Given the description of an element on the screen output the (x, y) to click on. 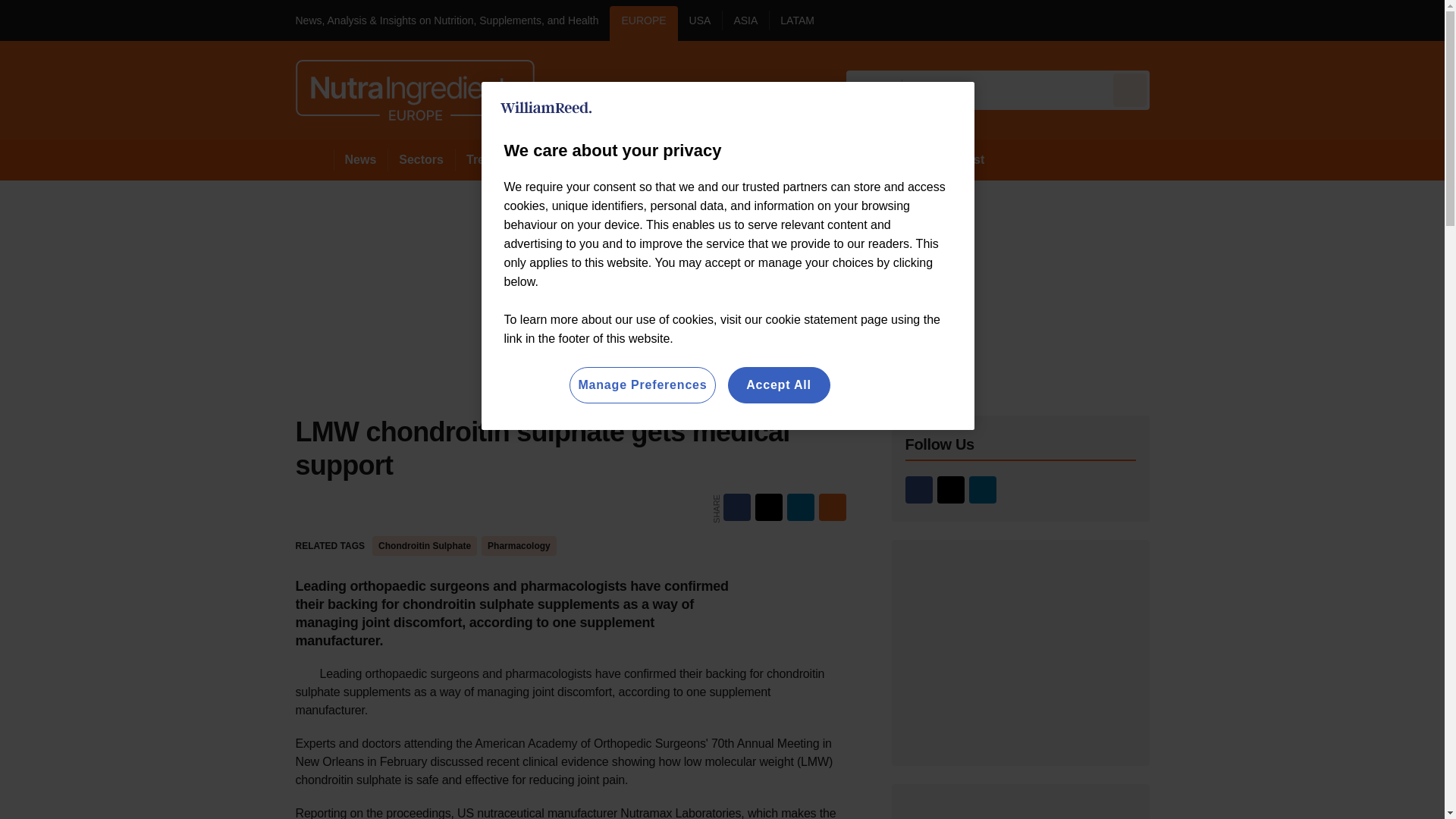
3rd party ad content (1020, 652)
ASIA (745, 22)
My account (1256, 20)
SUBSCRIBE (1318, 20)
USA (700, 22)
Home (313, 159)
Sign out (1174, 20)
Send (1129, 89)
Sign in (1171, 20)
Register (1231, 20)
SUBSCRIBE (1362, 20)
News (360, 159)
Sectors (420, 159)
Send (1129, 90)
